Given the description of an element on the screen output the (x, y) to click on. 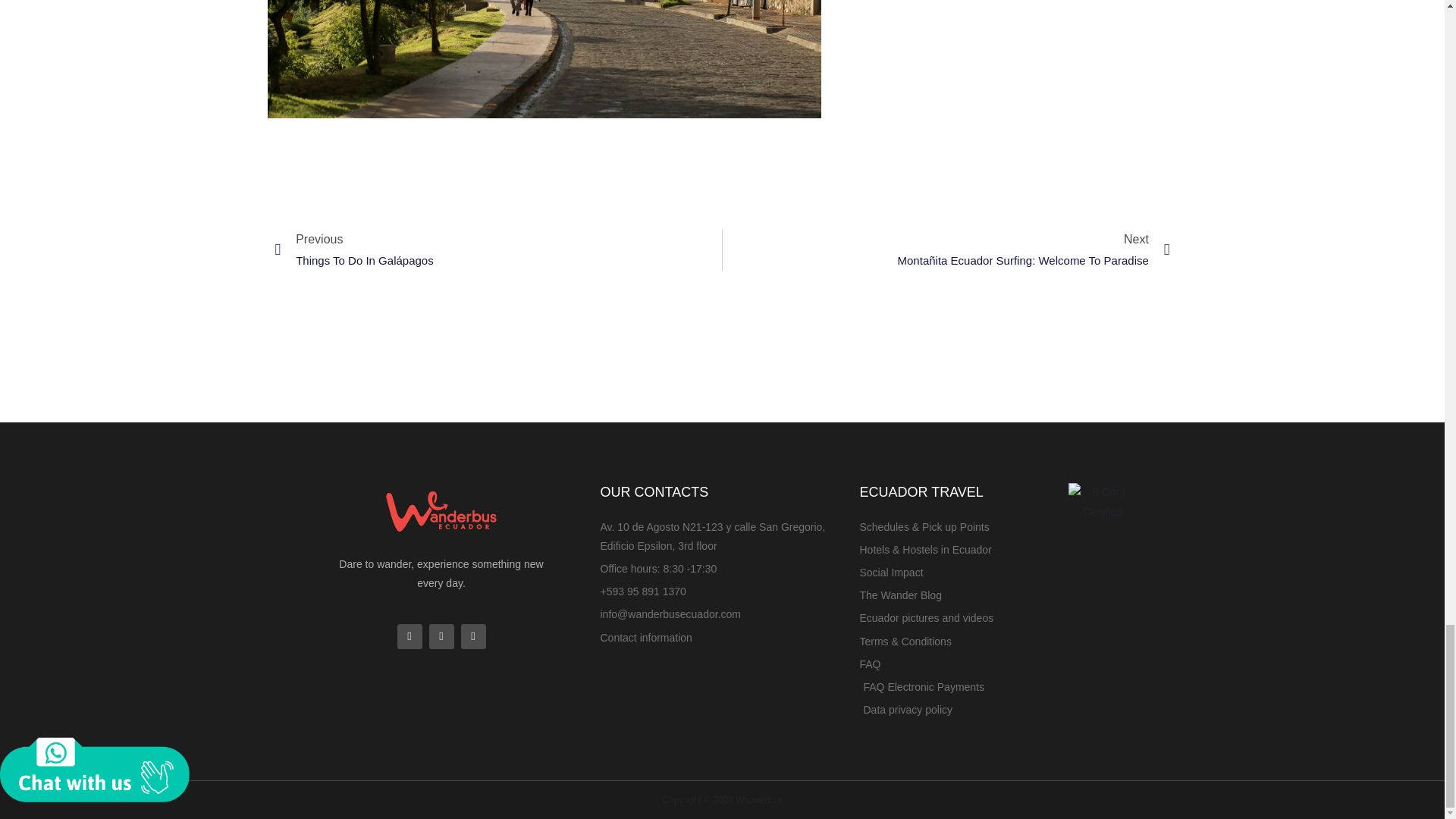
Walking tour Cuenca (543, 58)
